Given the description of an element on the screen output the (x, y) to click on. 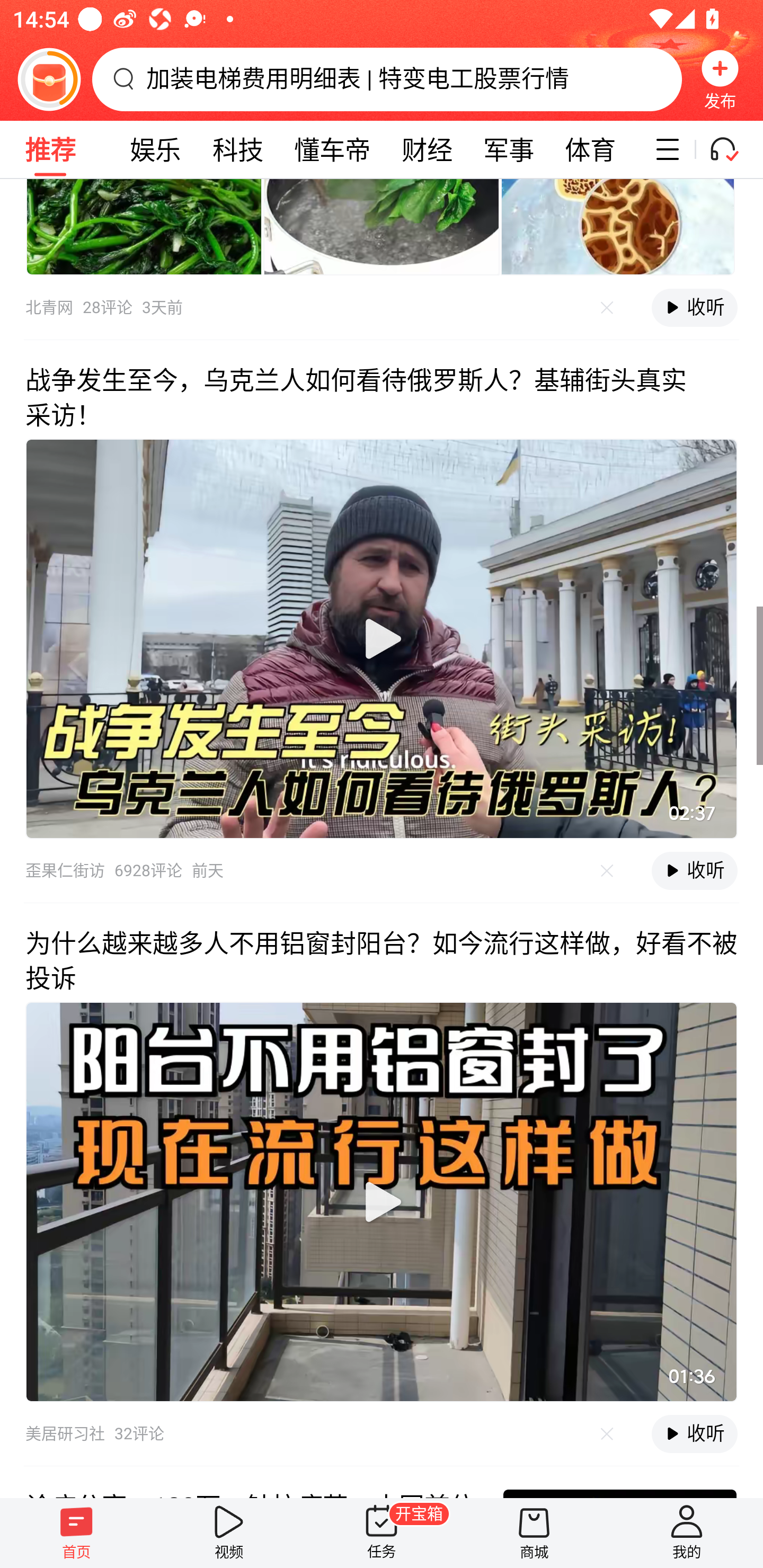
阅读赚金币 (48, 79)
加装电梯费用明细表 | 特变电工股票行情 搜索框，加装电梯费用明细表 | 特变电工股票行情 (387, 79)
发布 发布，按钮 (720, 78)
推荐 (49, 149)
娱乐 (155, 149)
科技 (237, 149)
懂车帝 (332, 149)
财经 (427, 149)
军事 (508, 149)
体育 (590, 149)
听一听开关 (732, 149)
收听 (694, 307)
不感兴趣 (607, 307)
播放视频 视频播放器，双击屏幕打开播放控制 (381, 638)
播放视频 (381, 638)
收听 (694, 870)
不感兴趣 (607, 869)
播放视频 视频播放器，双击屏幕打开播放控制 (381, 1201)
播放视频 (381, 1201)
收听 (694, 1433)
不感兴趣 (607, 1433)
首页 (76, 1532)
视频 (228, 1532)
任务 开宝箱 (381, 1532)
商城 (533, 1532)
我的 (686, 1532)
